Given the description of an element on the screen output the (x, y) to click on. 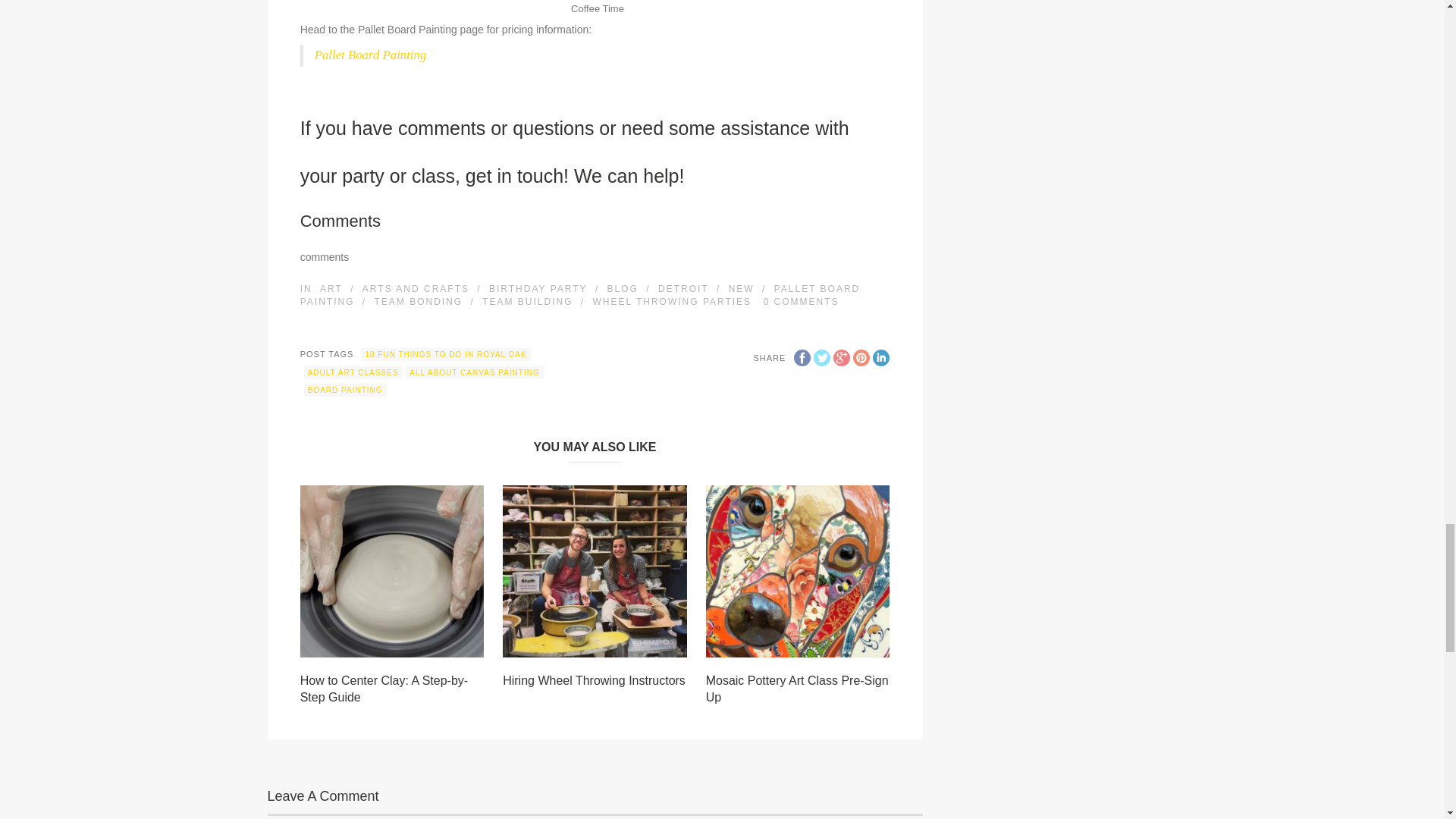
ART (331, 288)
Pallet Board Painting (370, 54)
Facebook (801, 357)
Twitter (821, 357)
Pinterest (861, 357)
 get in touch! (514, 175)
LinkedIn (880, 357)
ARTS AND CRAFTS (415, 288)
